Given the description of an element on the screen output the (x, y) to click on. 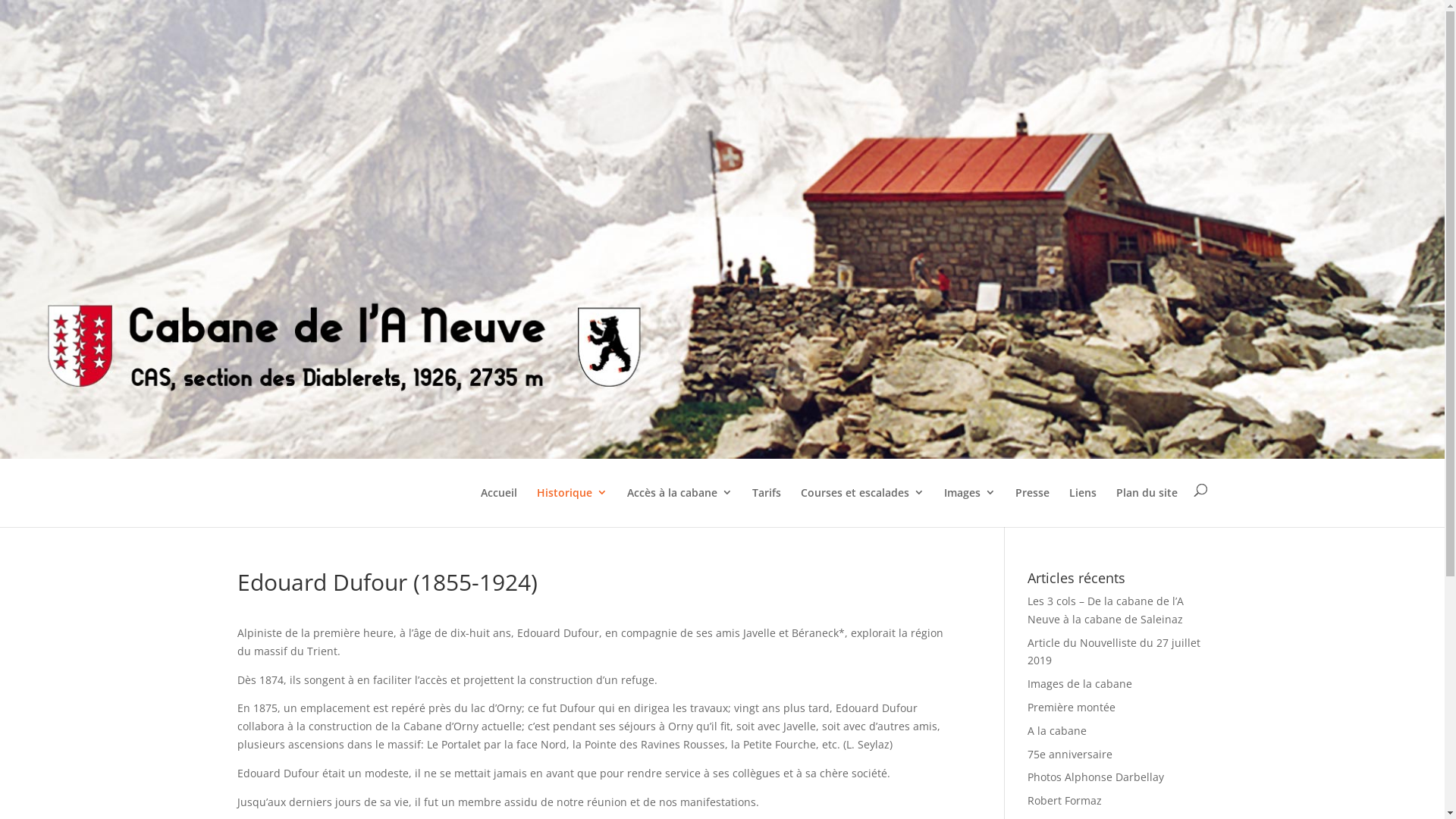
Images Element type: text (968, 505)
A la cabane Element type: text (1056, 730)
Images de la cabane Element type: text (1079, 683)
Robert Formaz Element type: text (1064, 800)
Plan du site Element type: text (1146, 505)
Accueil Element type: text (498, 505)
Tarifs Element type: text (766, 505)
Article du Nouvelliste du 27 juillet 2019 Element type: text (1113, 651)
Presse Element type: text (1031, 505)
75e anniversaire Element type: text (1069, 753)
Liens Element type: text (1082, 505)
Photos Alphonse Darbellay Element type: text (1095, 776)
Historique Element type: text (571, 505)
Courses et escalades Element type: text (862, 505)
